Given the description of an element on the screen output the (x, y) to click on. 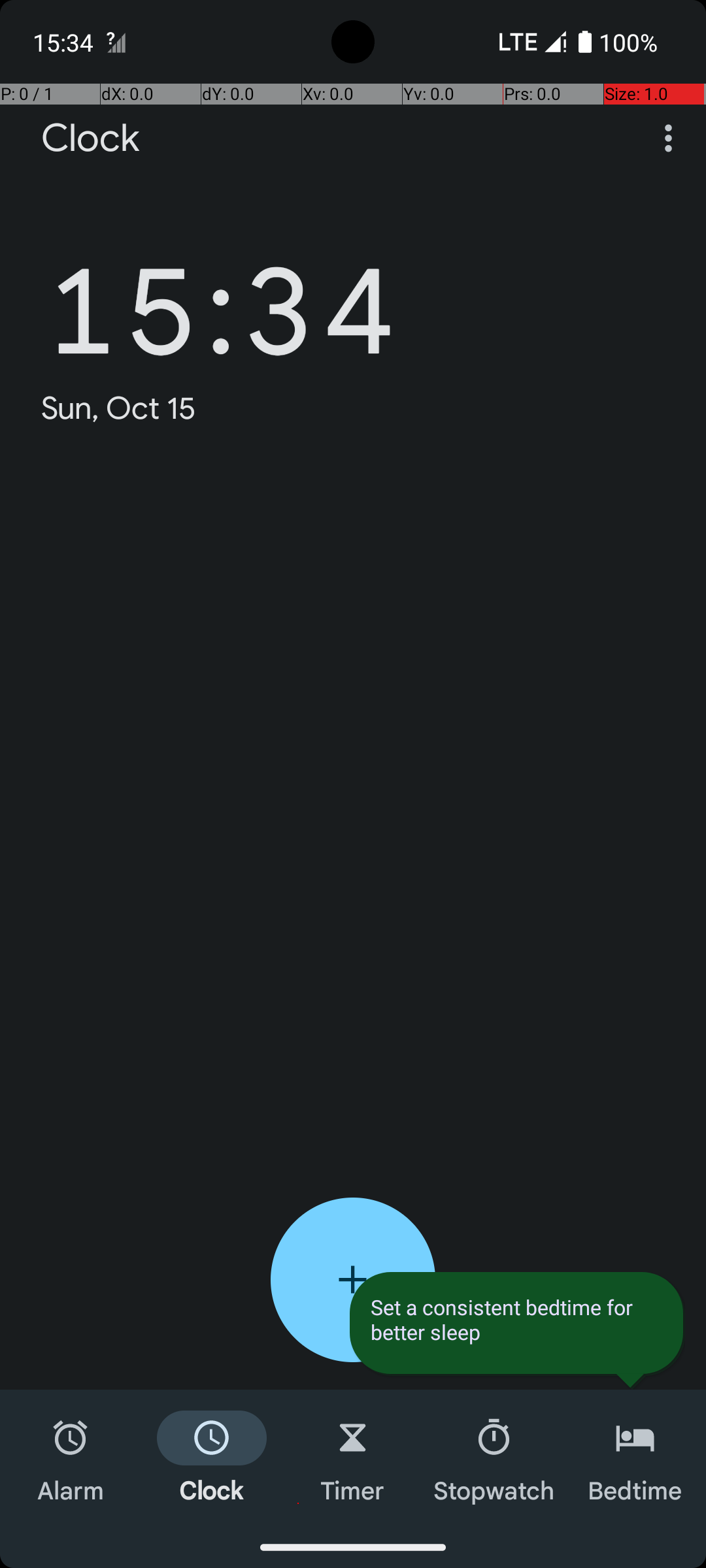
Add city Element type: android.widget.Button (352, 1279)
Set a consistent bedtime for better sleep Element type: android.widget.TextView (516, 1318)
Android System notification: Sign in to network Element type: android.widget.ImageView (115, 41)
